Given the description of an element on the screen output the (x, y) to click on. 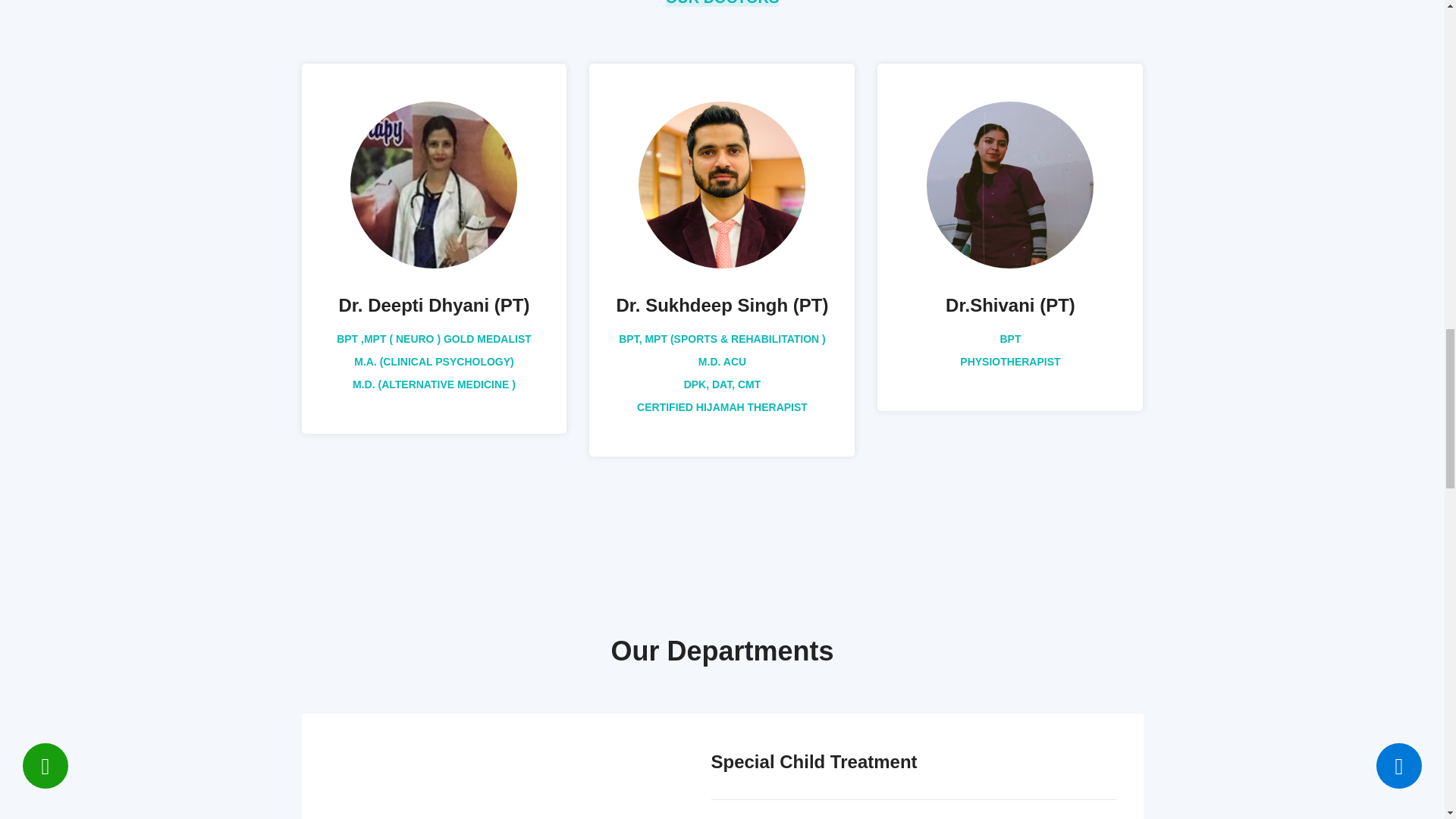
Special Child Treatment (814, 761)
